Given the description of an element on the screen output the (x, y) to click on. 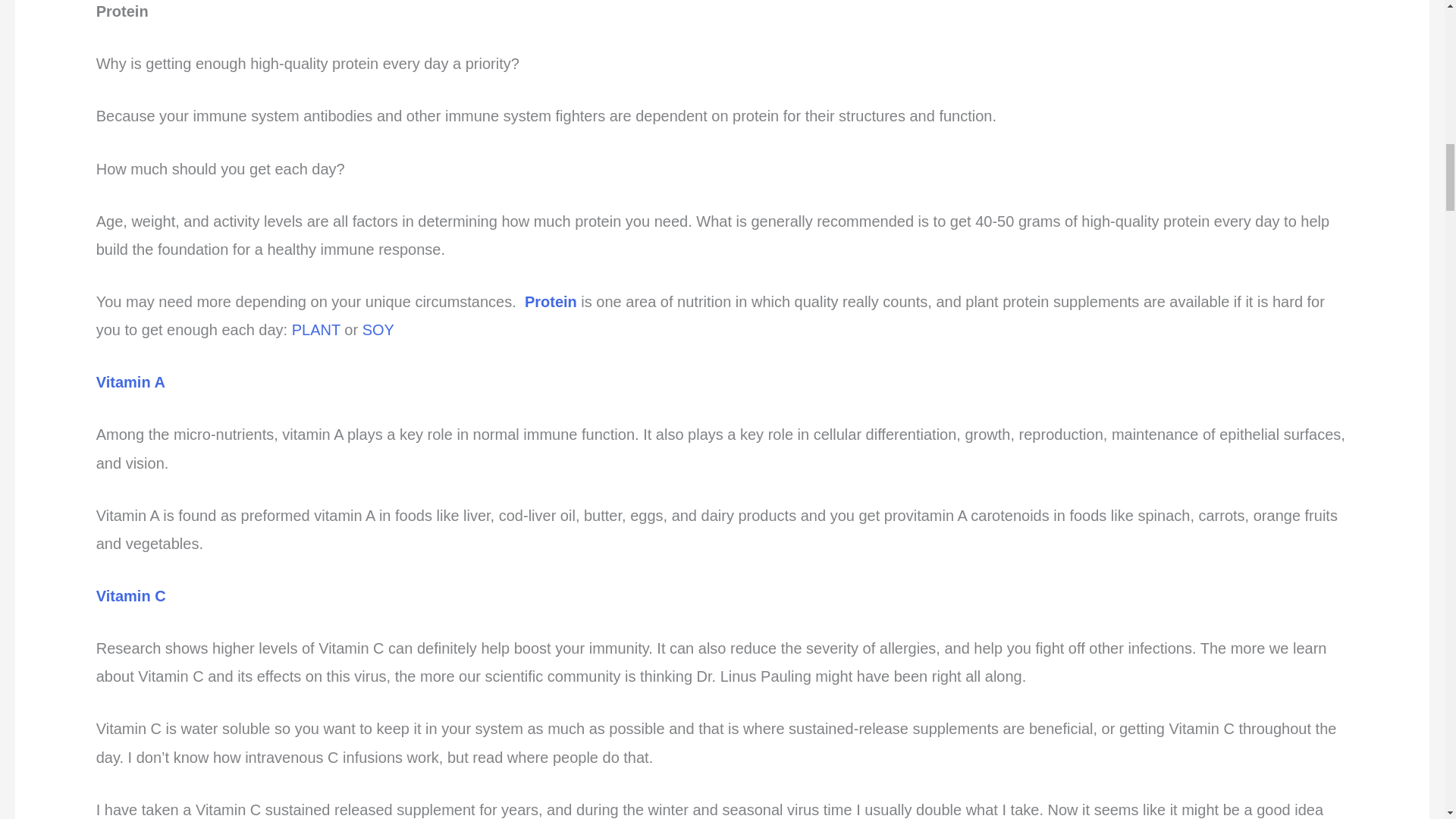
PLANT (316, 329)
Vitamin C (130, 596)
Vitamin A (130, 381)
SOY (378, 329)
Protein (550, 301)
